Given the description of an element on the screen output the (x, y) to click on. 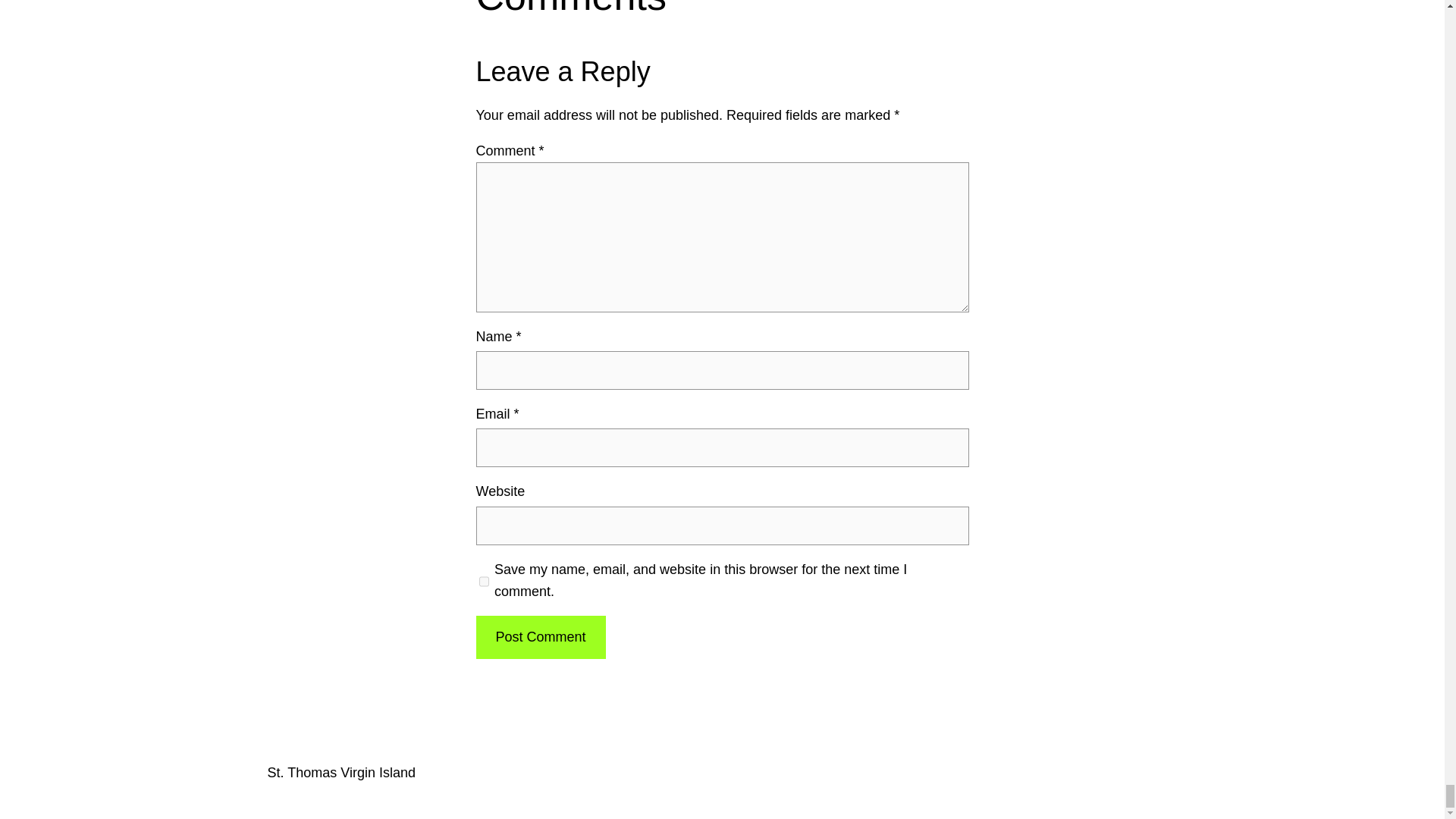
St. Thomas Virgin Island (340, 772)
Post Comment (540, 637)
Post Comment (540, 637)
